Given the description of an element on the screen output the (x, y) to click on. 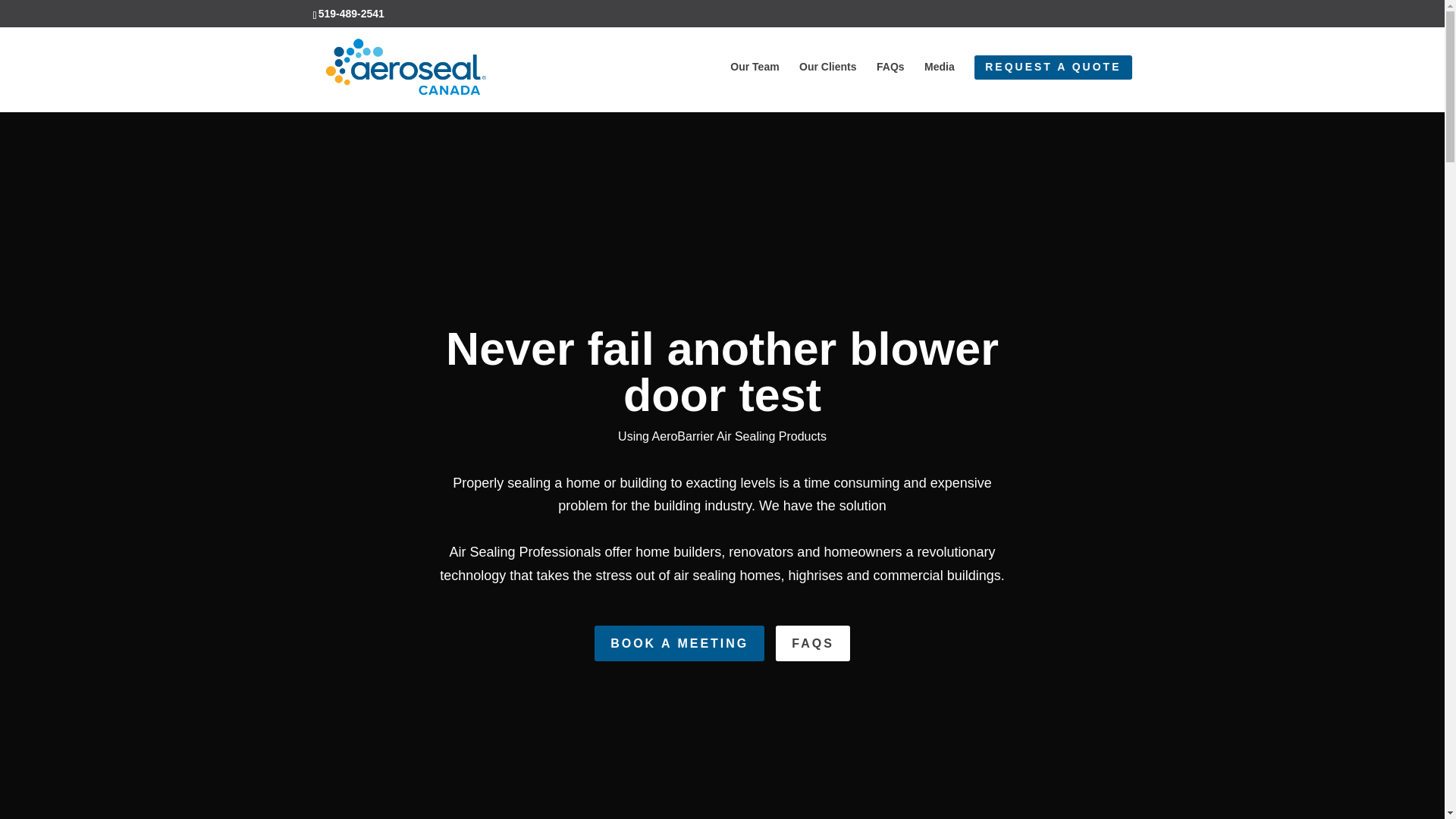
REQUEST A QUOTE (1052, 83)
Our Clients (827, 82)
FAQS (813, 642)
Our Team (754, 82)
BOOK A MEETING (679, 642)
